Given the description of an element on the screen output the (x, y) to click on. 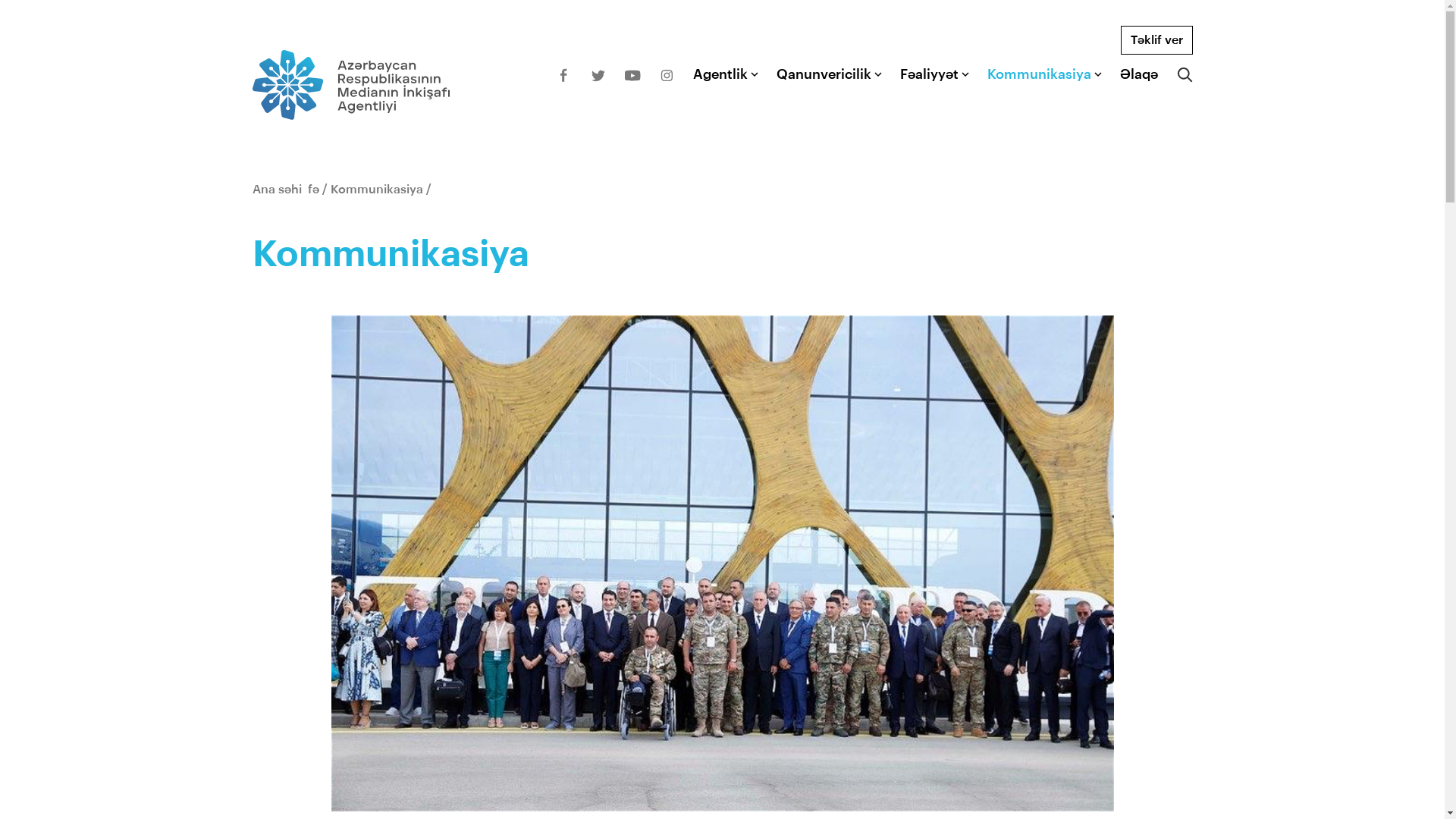
Qanunvericilik Element type: text (823, 74)
Agentlik Element type: text (720, 74)
Kommunikasiya Element type: text (1039, 74)
Kommunikasiya Element type: text (376, 189)
